Given the description of an element on the screen output the (x, y) to click on. 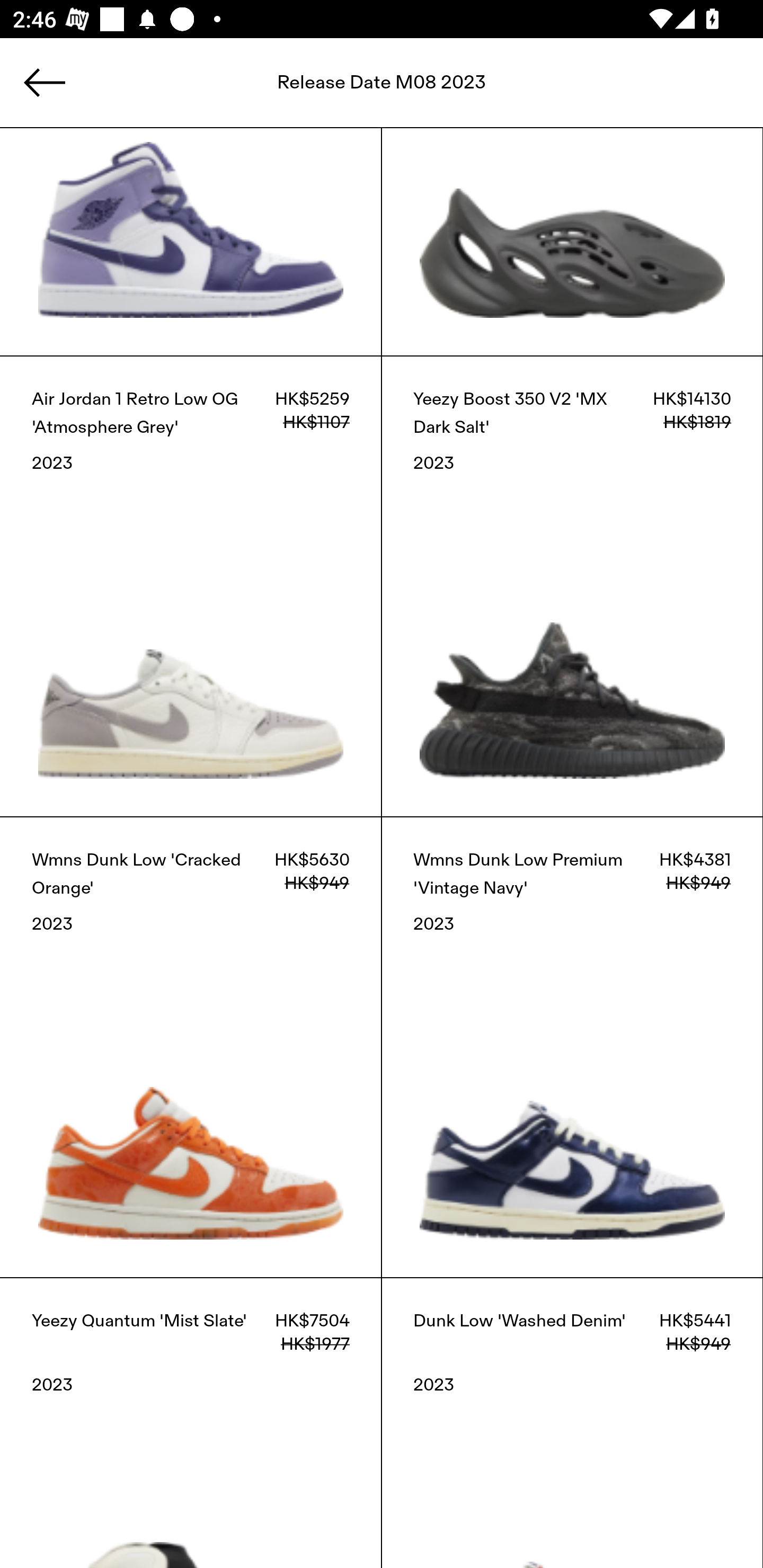
Wmns Dunk Low 'Cracked Orange' HK$5630 HK$949 2023 (190, 1046)
Yeezy Quantum 'Mist Slate' HK$7504 HK$1977 2023 (190, 1422)
Dunk Low 'Washed Denim' HK$5441 HK$949 2023 (572, 1422)
